Given the description of an element on the screen output the (x, y) to click on. 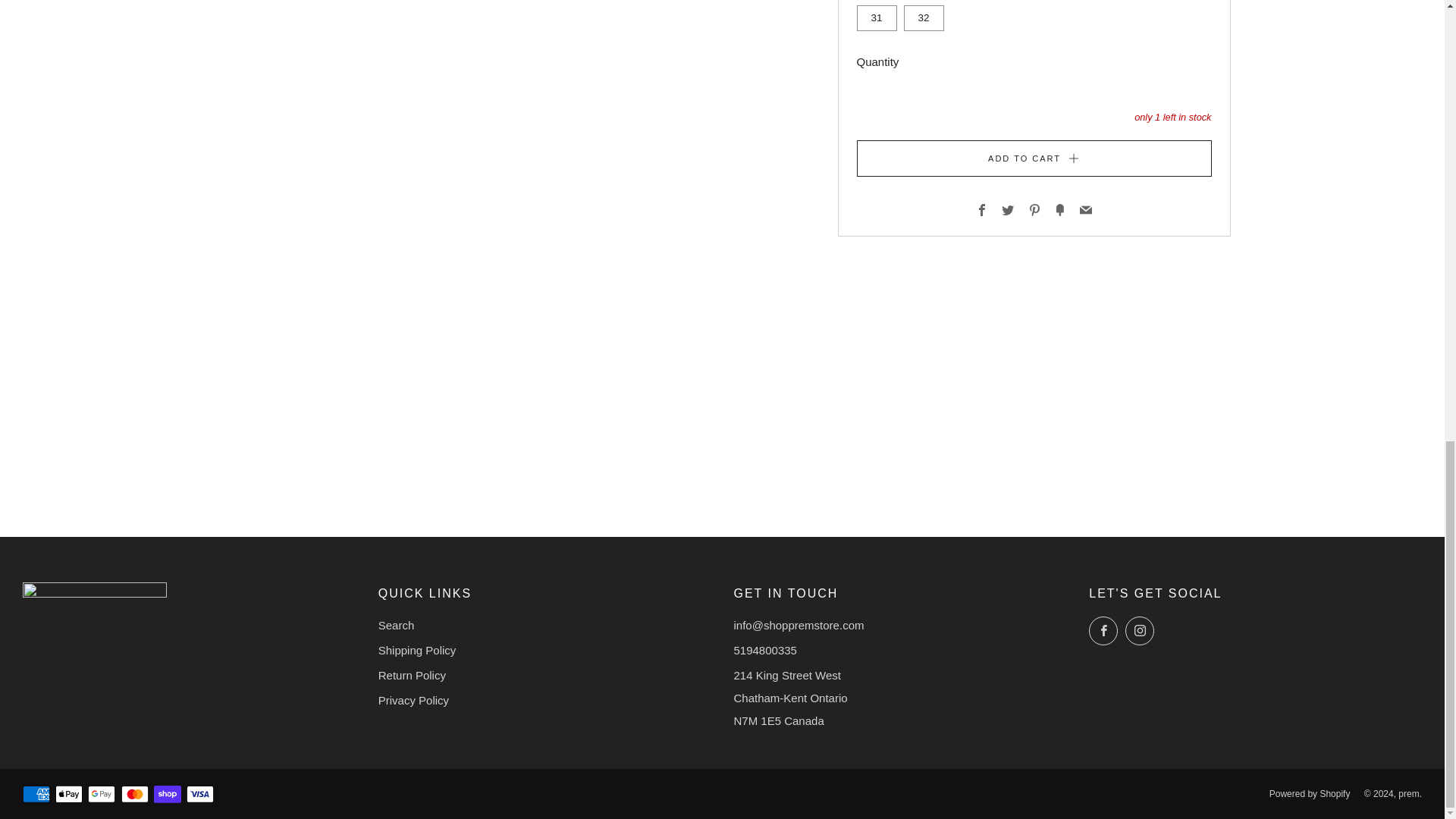
Apple Pay (68, 794)
American Express (36, 794)
Google Pay (101, 794)
Mastercard (134, 794)
Shop Pay (167, 794)
Visa (200, 794)
